Given the description of an element on the screen output the (x, y) to click on. 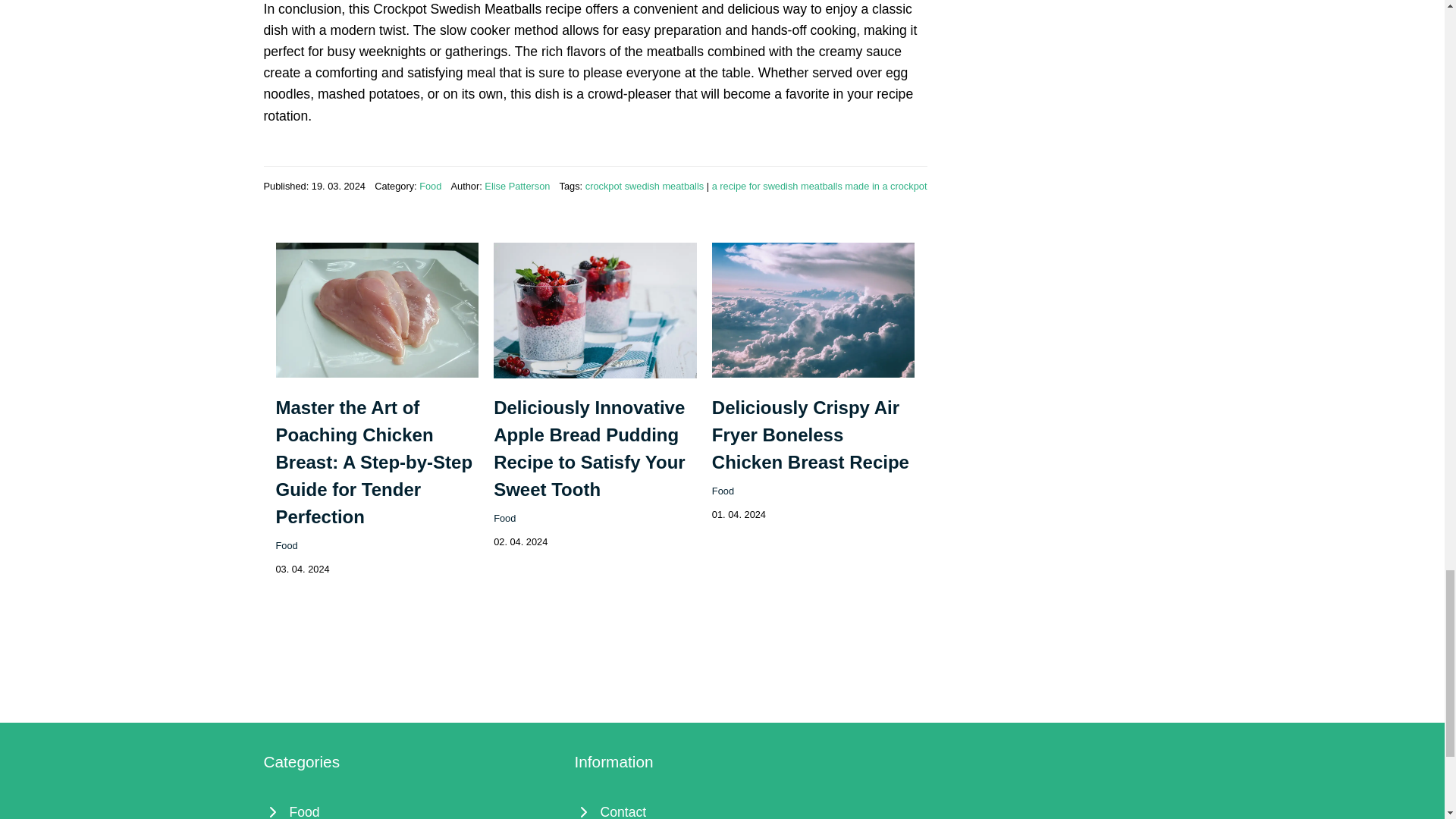
Food (722, 490)
Deliciously Crispy Air Fryer Boneless Chicken Breast Recipe (809, 434)
Food (287, 545)
Food (430, 185)
a recipe for swedish meatballs made in a crockpot (819, 185)
Food (504, 518)
Contact (722, 809)
Elise Patterson (517, 185)
Food (411, 809)
crockpot swedish meatballs (644, 185)
